Given the description of an element on the screen output the (x, y) to click on. 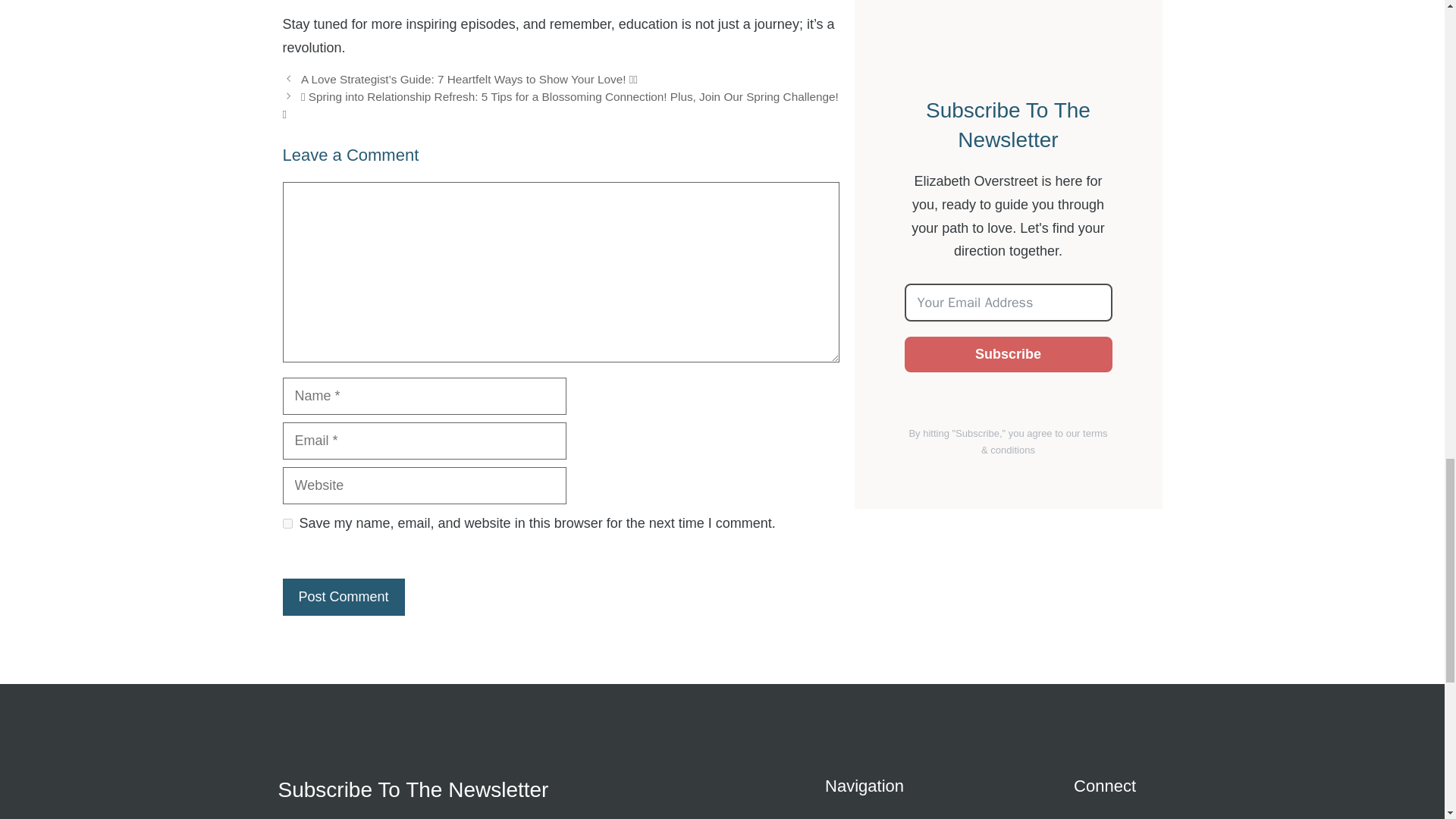
Post Comment (343, 596)
Post Comment (343, 596)
yes (287, 523)
